Given the description of an element on the screen output the (x, y) to click on. 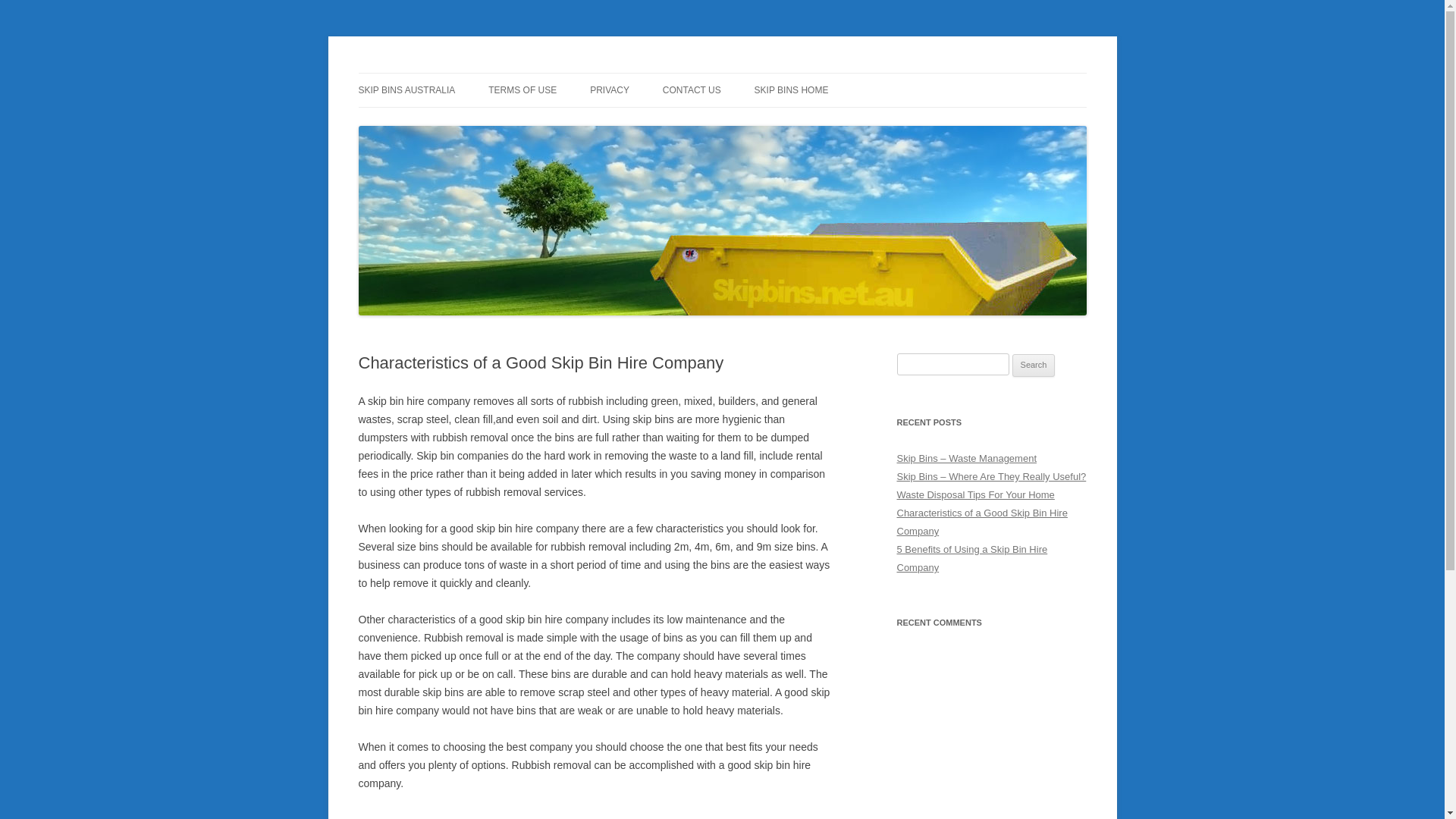
Waste Disposal Tips For Your Home Element type: text (975, 494)
PRIVACY Element type: text (609, 89)
Characteristics of a Good Skip Bin Hire Company Element type: text (981, 521)
TERMS OF USE Element type: text (522, 89)
Search Element type: text (1033, 365)
SKIP BINS AUSTRALIA Element type: text (406, 89)
5 Benefits of Using a Skip Bin Hire Company Element type: text (971, 558)
Skip to content Element type: text (721, 72)
SKIP BINS HOME Element type: text (791, 89)
CONTACT US Element type: text (691, 89)
Skip Bins Element type: text (402, 72)
